Given the description of an element on the screen output the (x, y) to click on. 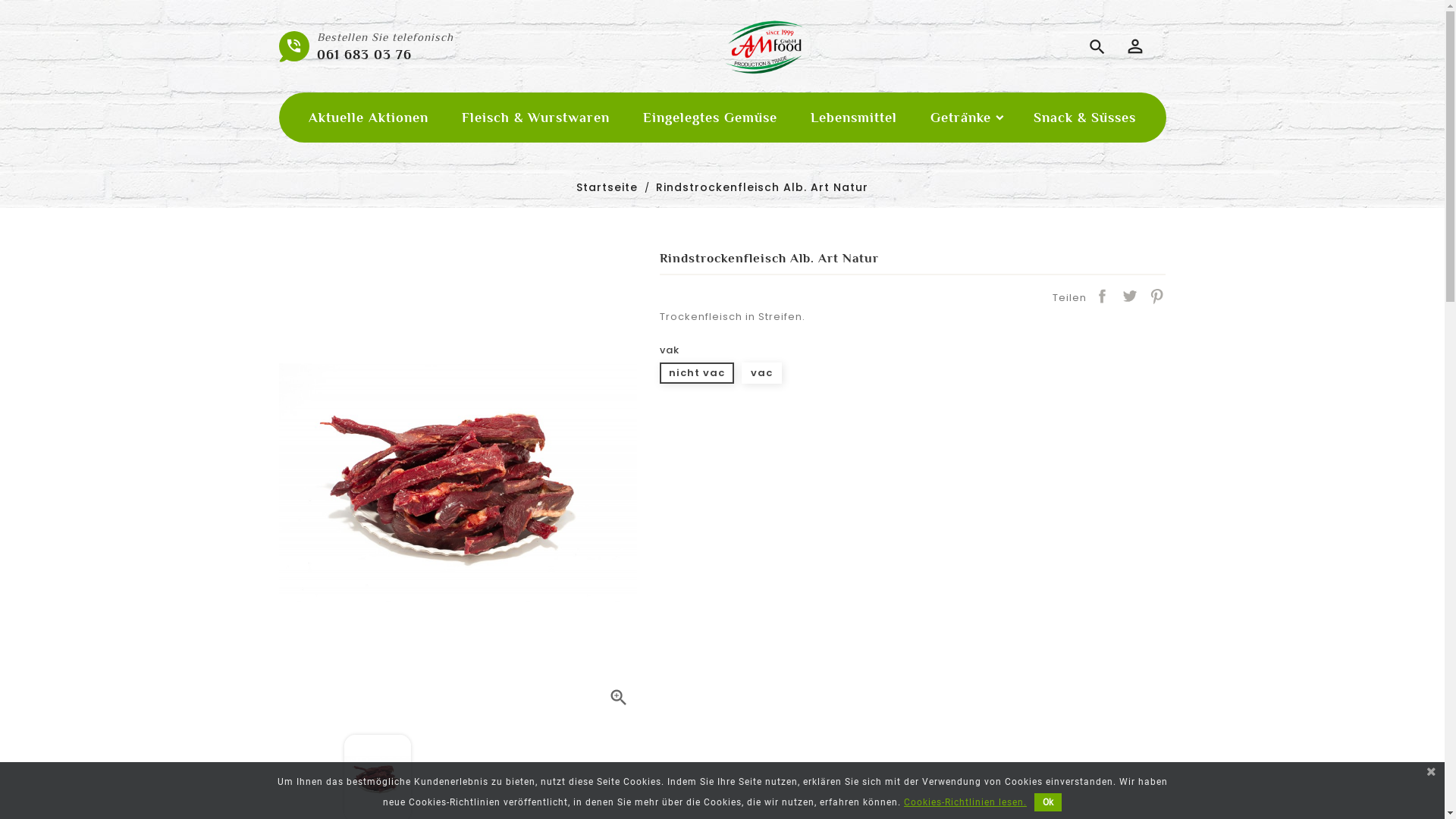
Teilen Element type: text (1101, 295)
Cookies-Richtlinien lesen. Element type: text (964, 801)
Tweet Element type: text (1129, 295)
Ok Element type: text (1047, 802)
Pinterest Element type: text (1156, 295)
Lebensmittel Element type: text (853, 117)
Fleisch & Wurstwaren Element type: text (535, 117)
Aktuelle Aktionen Element type: text (368, 117)
Startseite Element type: text (608, 187)
